Given the description of an element on the screen output the (x, y) to click on. 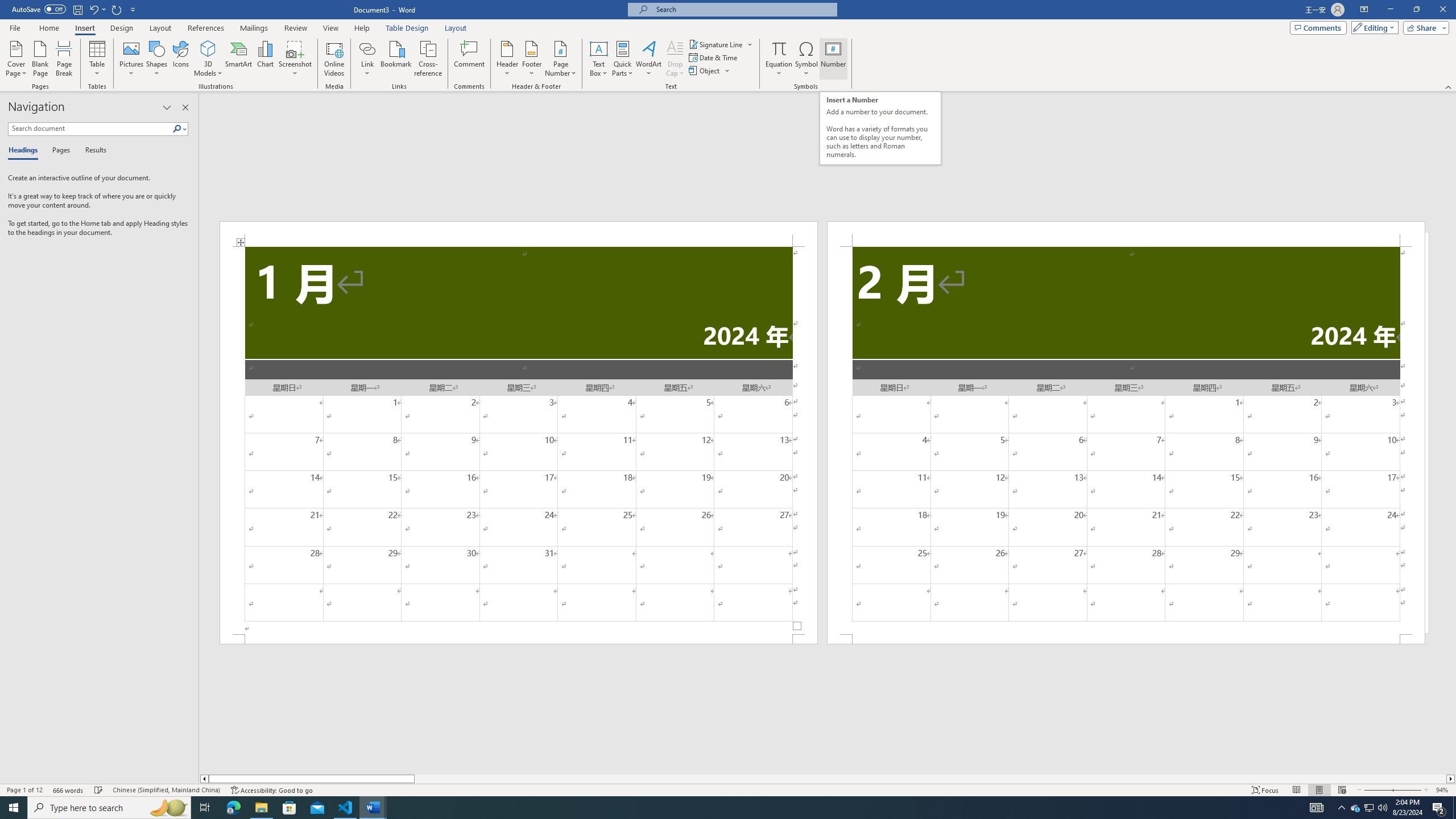
Online Videos... (333, 58)
3D Models (208, 58)
Page Number (560, 58)
Number... (833, 58)
Comment (469, 58)
Header (507, 58)
Chart... (265, 58)
Footer (531, 58)
Cross-reference... (428, 58)
